Given the description of an element on the screen output the (x, y) to click on. 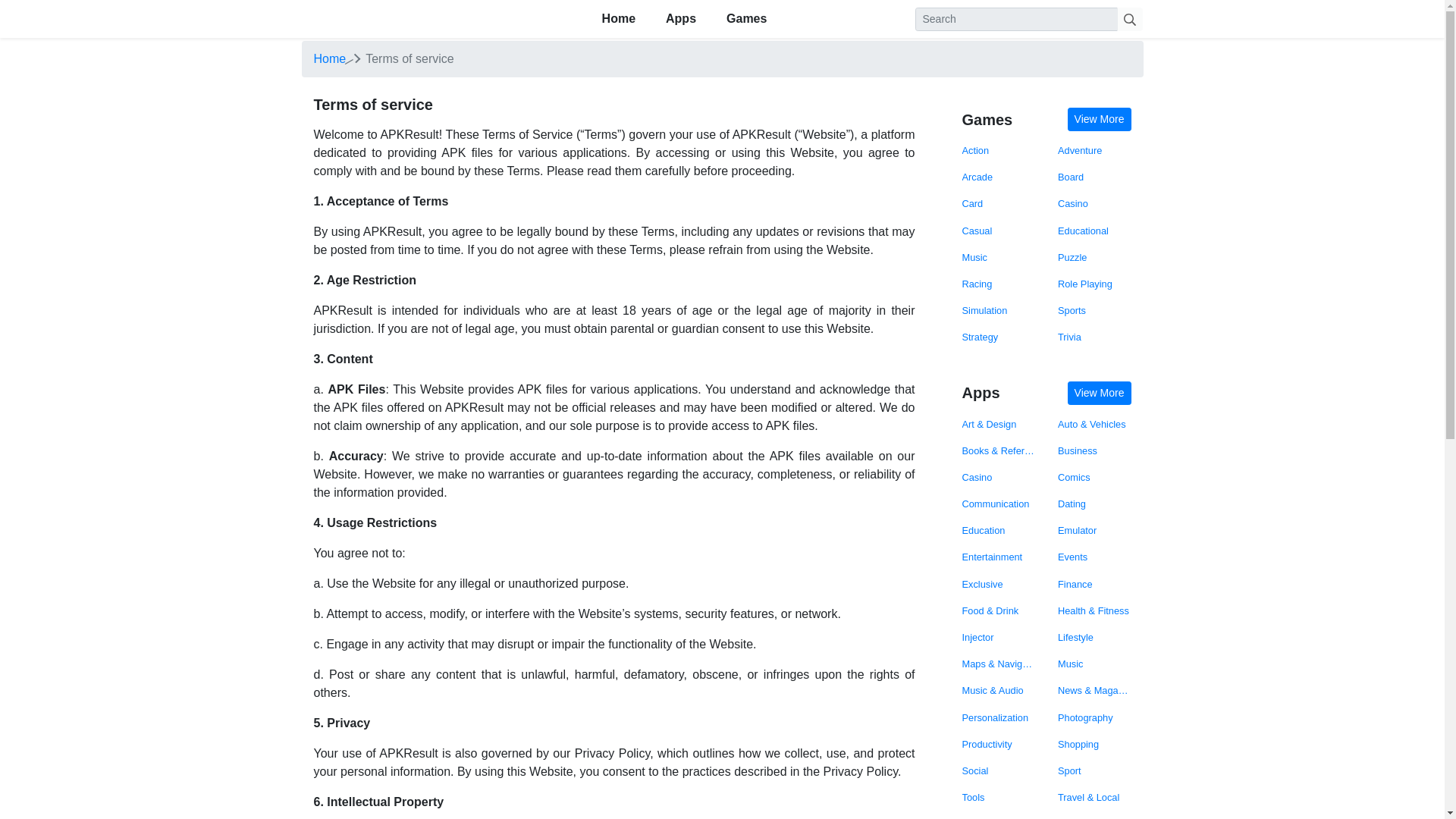
Casino (1094, 203)
Educational  (1094, 230)
Trivia (1094, 336)
Action (997, 150)
Apps (680, 19)
Adventure (1094, 150)
Music (997, 257)
Strategy (997, 336)
Arcade  (997, 176)
Board  (1094, 176)
Games (746, 19)
Communication (997, 503)
Board (1094, 176)
Home (330, 58)
